Given the description of an element on the screen output the (x, y) to click on. 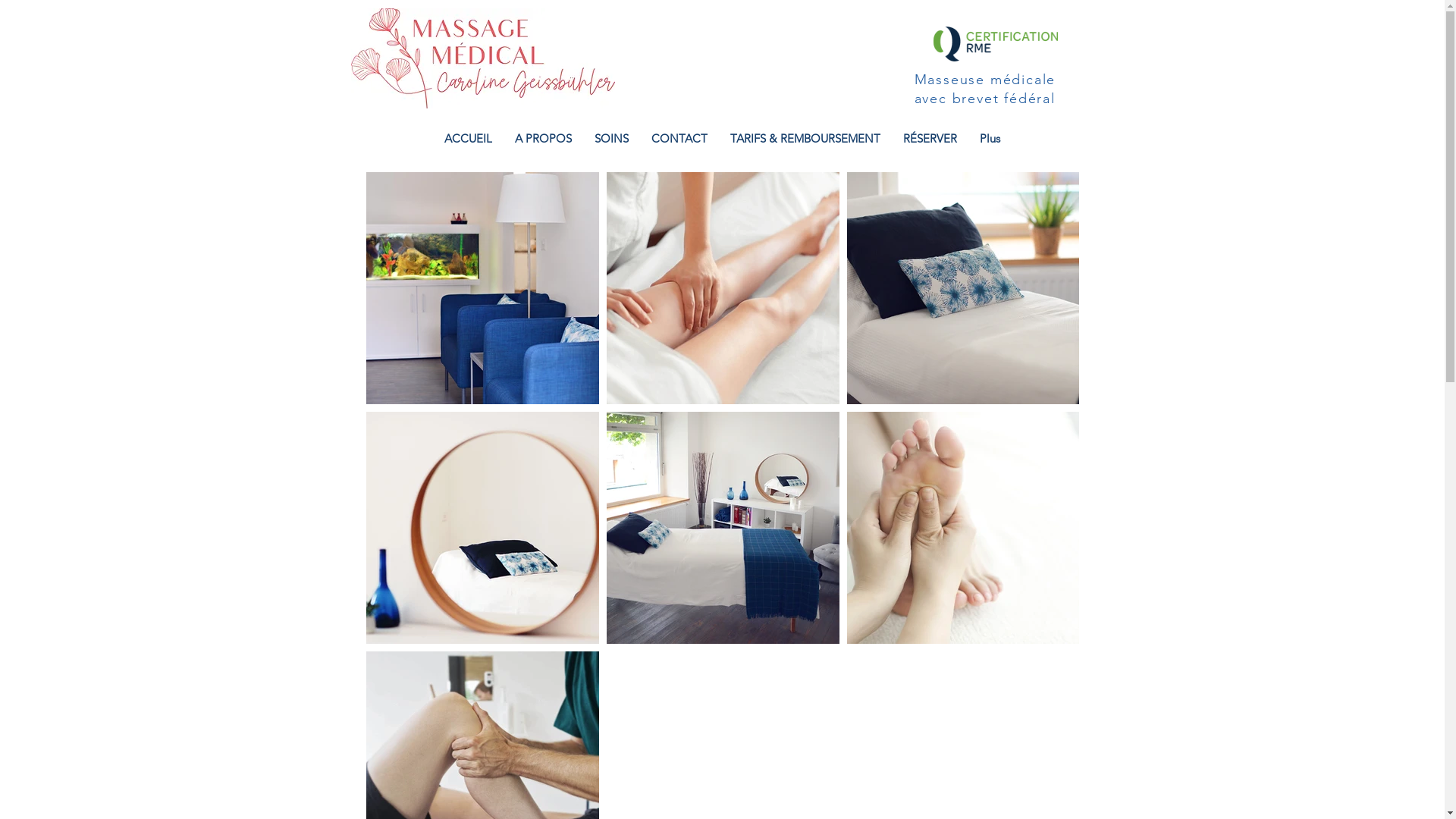
CONTACT Element type: text (679, 142)
TARIFS & REMBOURSEMENT Element type: text (804, 142)
SOINS Element type: text (611, 142)
ACCUEIL Element type: text (468, 142)
A PROPOS Element type: text (543, 142)
